Given the description of an element on the screen output the (x, y) to click on. 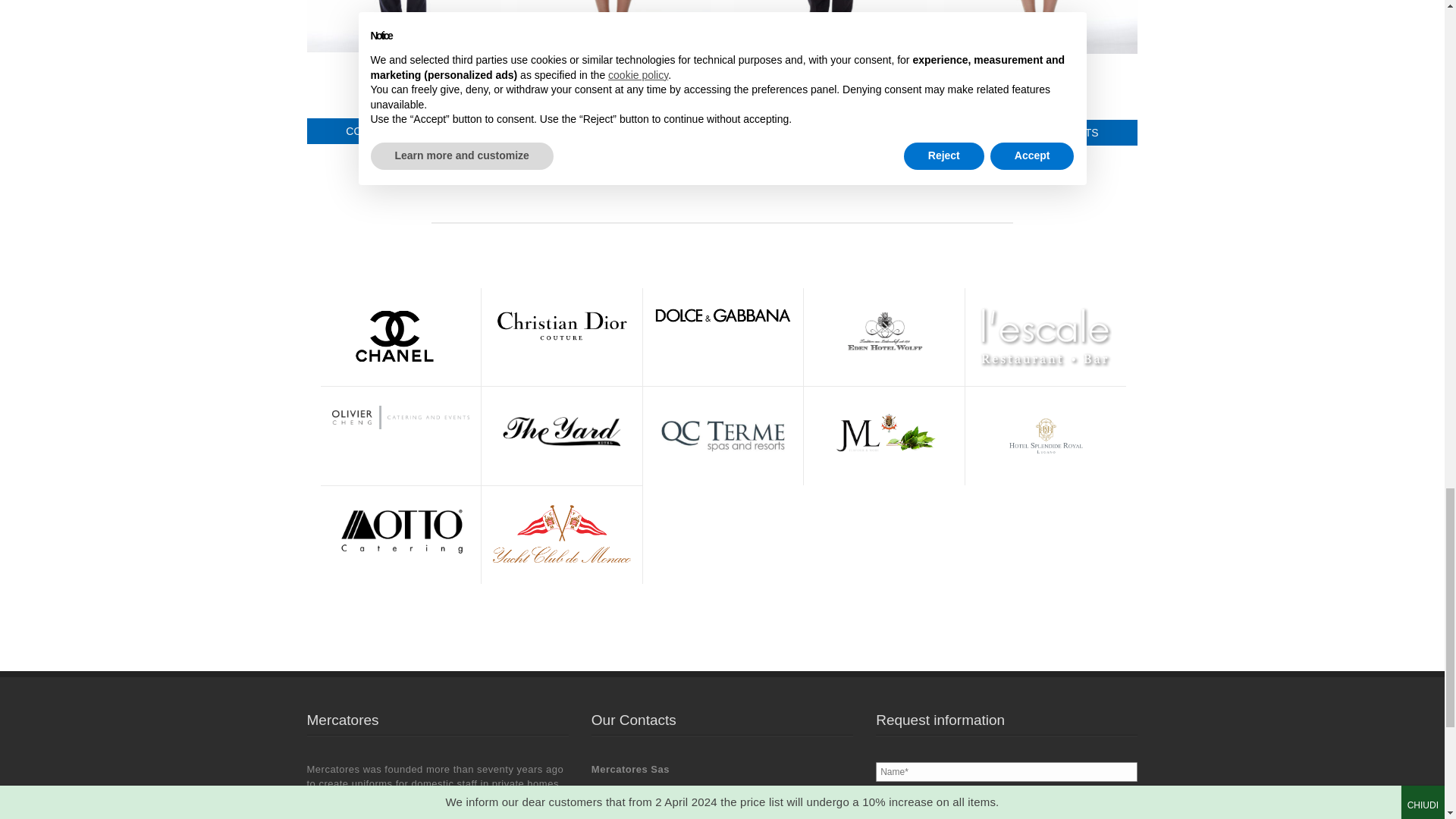
COMPARE PRODUCTS (402, 130)
COMPARE PRODUCTS (830, 132)
COMPARE PRODUCTS (1040, 132)
COMPARE PRODUCTS (613, 130)
